Given the description of an element on the screen output the (x, y) to click on. 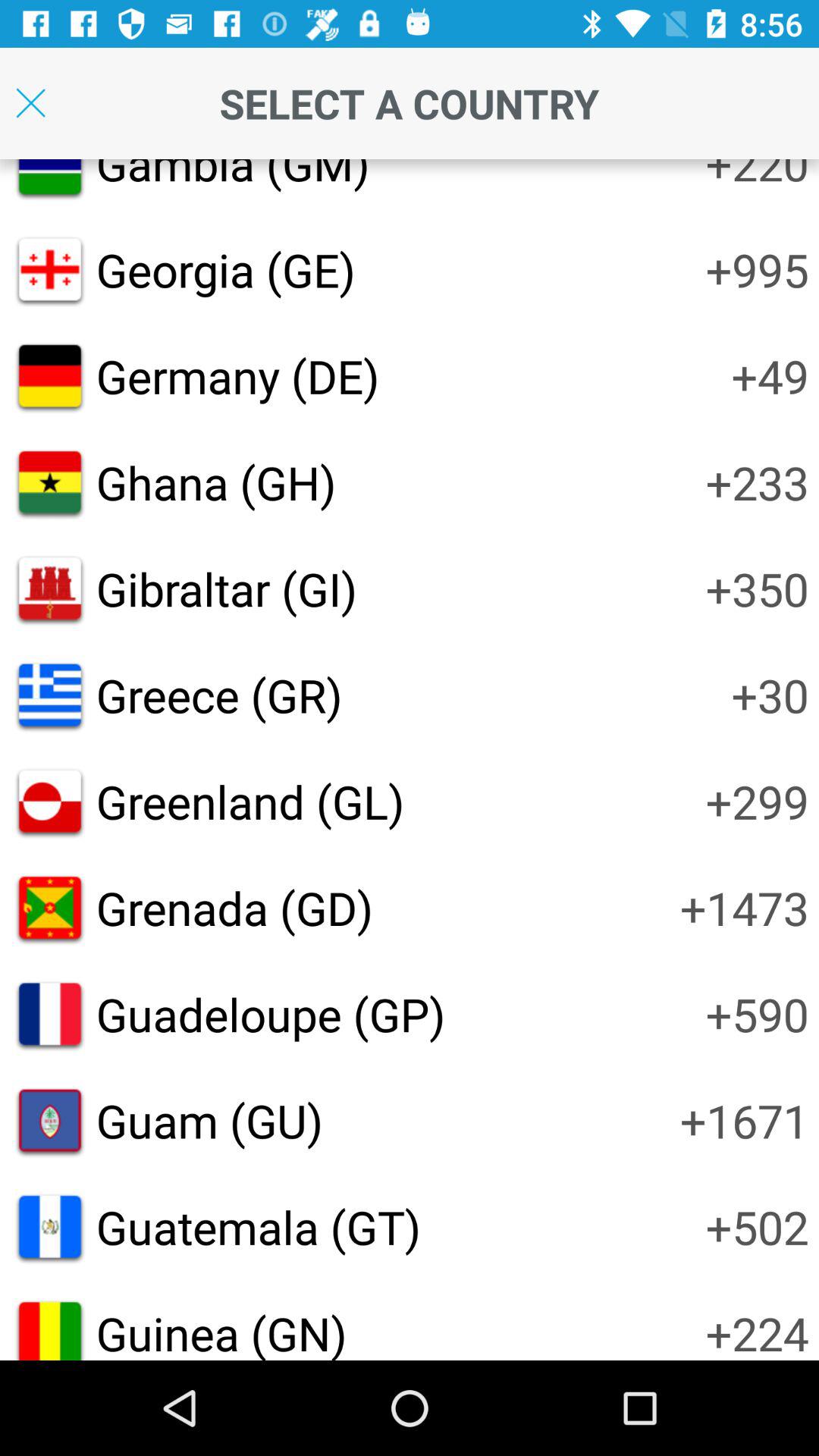
click item to the right of the gibraltar (gi) (756, 588)
